Given the description of an element on the screen output the (x, y) to click on. 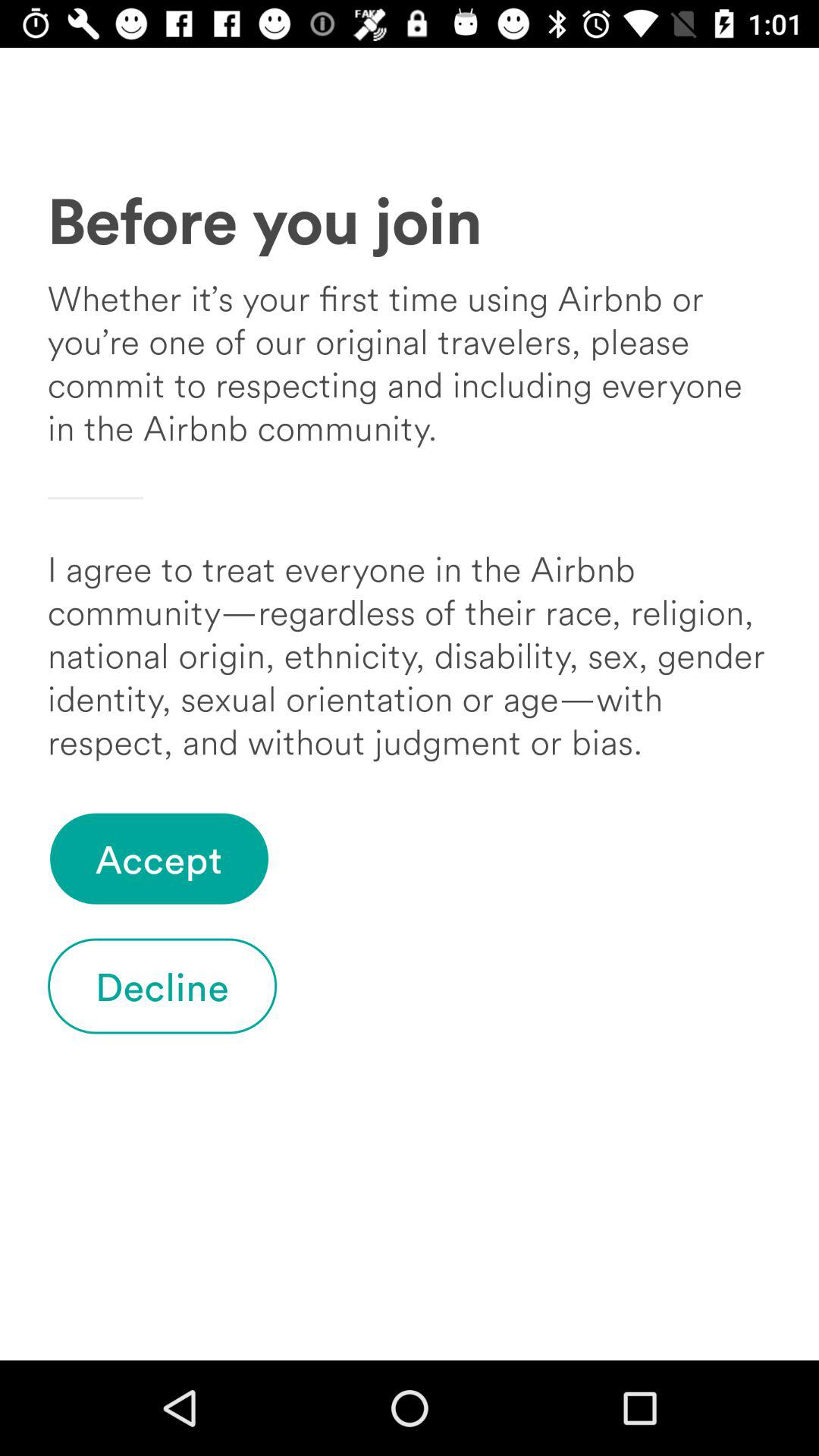
select the item above decline (158, 858)
